Given the description of an element on the screen output the (x, y) to click on. 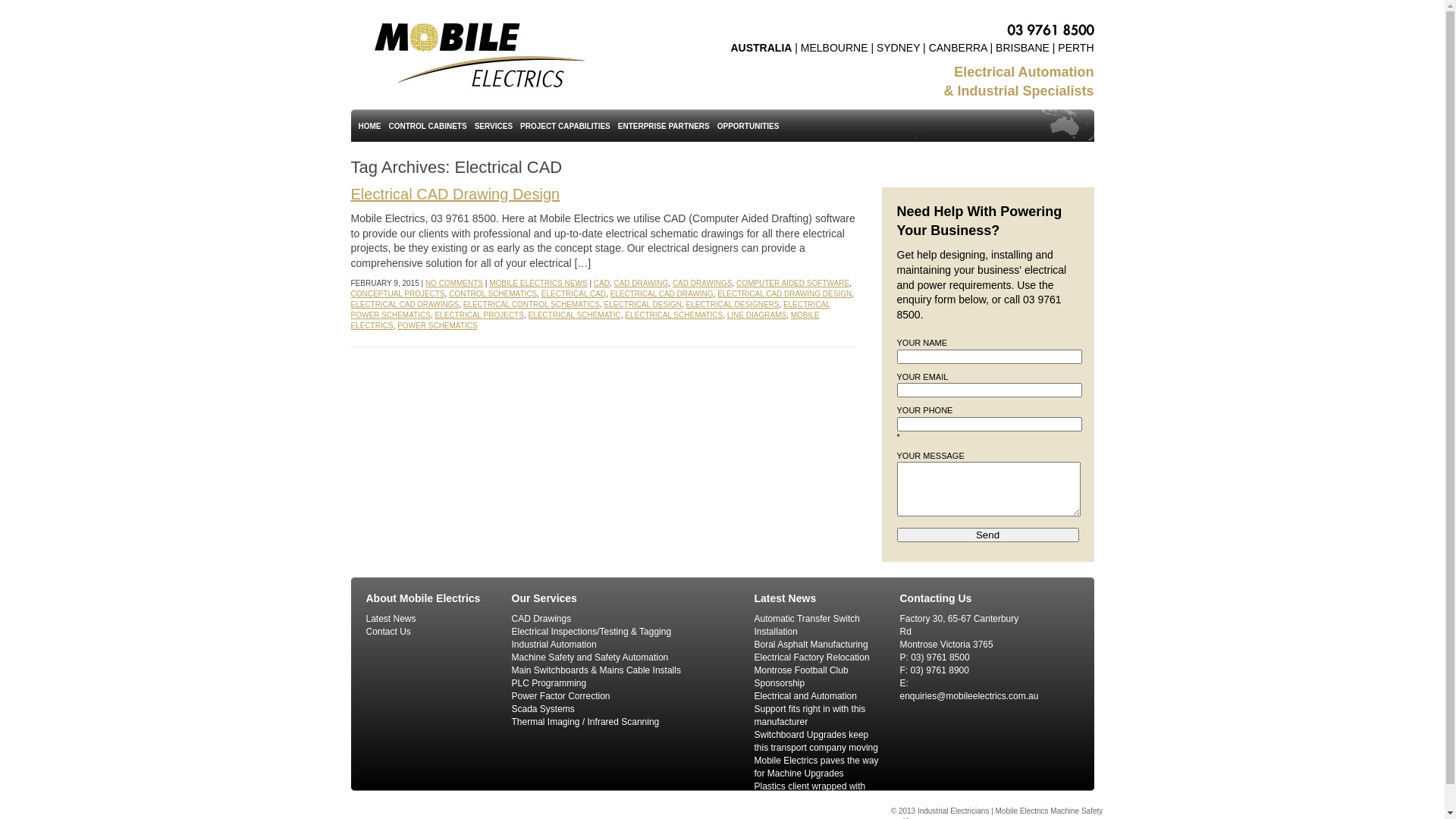
SERVICES Element type: text (493, 125)
Main Switchboards & Mains Cable Installs Element type: text (595, 670)
enquiries@mobileelectrics.com.au Element type: text (968, 695)
Boral Asphalt Manufacturing Element type: text (810, 644)
MOBILE ELECTRICS Element type: text (584, 319)
ELECTRICAL CAD Element type: text (573, 293)
Send Element type: text (987, 534)
CAD DRAWINGS Element type: text (702, 283)
PROJECT CAPABILITIES Element type: text (565, 125)
CONTROL SCHEMATICS Element type: text (492, 293)
Industrial Automation Element type: text (553, 644)
Montrose Football Club Sponsorship Element type: text (800, 676)
CAD DRAWING Element type: text (640, 283)
Electrical Inspections/Testing & Tagging Element type: text (591, 631)
ELECTRICAL CONTROL SCHEMATICS Element type: text (531, 304)
LINE DIAGRAMS Element type: text (756, 314)
ELECTRICAL POWER SCHEMATICS Element type: text (589, 309)
ELECTRICAL CAD DRAWING Element type: text (661, 293)
Switchboard Upgrades keep this transport company moving Element type: text (815, 741)
ELECTRICAL SCHEMATIC Element type: text (573, 314)
OPPORTUNITIES Element type: text (748, 125)
HOME Element type: text (369, 125)
Latest News Element type: text (390, 618)
Scada Systems Element type: text (542, 708)
Electrical CAD Drawing Design Element type: text (454, 193)
Machine Safety and Safety Automation Element type: text (589, 657)
ELECTRICAL CAD DRAWINGS Element type: text (404, 304)
NO COMMENTS Element type: text (454, 283)
Electrical Factory Relocation Element type: text (811, 657)
Power Factor Correction Element type: text (560, 695)
ELECTRICAL DESIGN Element type: text (641, 304)
CAD Drawings Element type: text (541, 618)
PLC Programming Element type: text (548, 682)
Mobile Electrics paves the way for Machine Upgrades Element type: text (815, 766)
CAD Element type: text (601, 283)
Contact Us Element type: text (387, 631)
Automatic Transfer Switch Installation Element type: text (806, 625)
ELECTRICAL PROJECTS Element type: text (478, 314)
MOBILE ELECTRICS NEWS Element type: text (537, 283)
POWER SCHEMATICS Element type: text (436, 325)
Plastics client wrapped with Mobile Electrics support Element type: text (809, 792)
Thermal Imaging / Infrared Scanning Element type: text (584, 721)
COMPUTER AIDED SOFTWARE Element type: text (792, 283)
CONTROL CABINETS Element type: text (427, 125)
ENTERPRISE PARTNERS Element type: text (663, 125)
ELECTRICAL SCHEMATICS Element type: text (673, 314)
CONCEPTUAL PROJECTS Element type: text (397, 293)
ELECTRICAL CAD DRAWING DESIGN Element type: text (784, 293)
ELECTRICAL DESIGNERS Element type: text (731, 304)
